Given the description of an element on the screen output the (x, y) to click on. 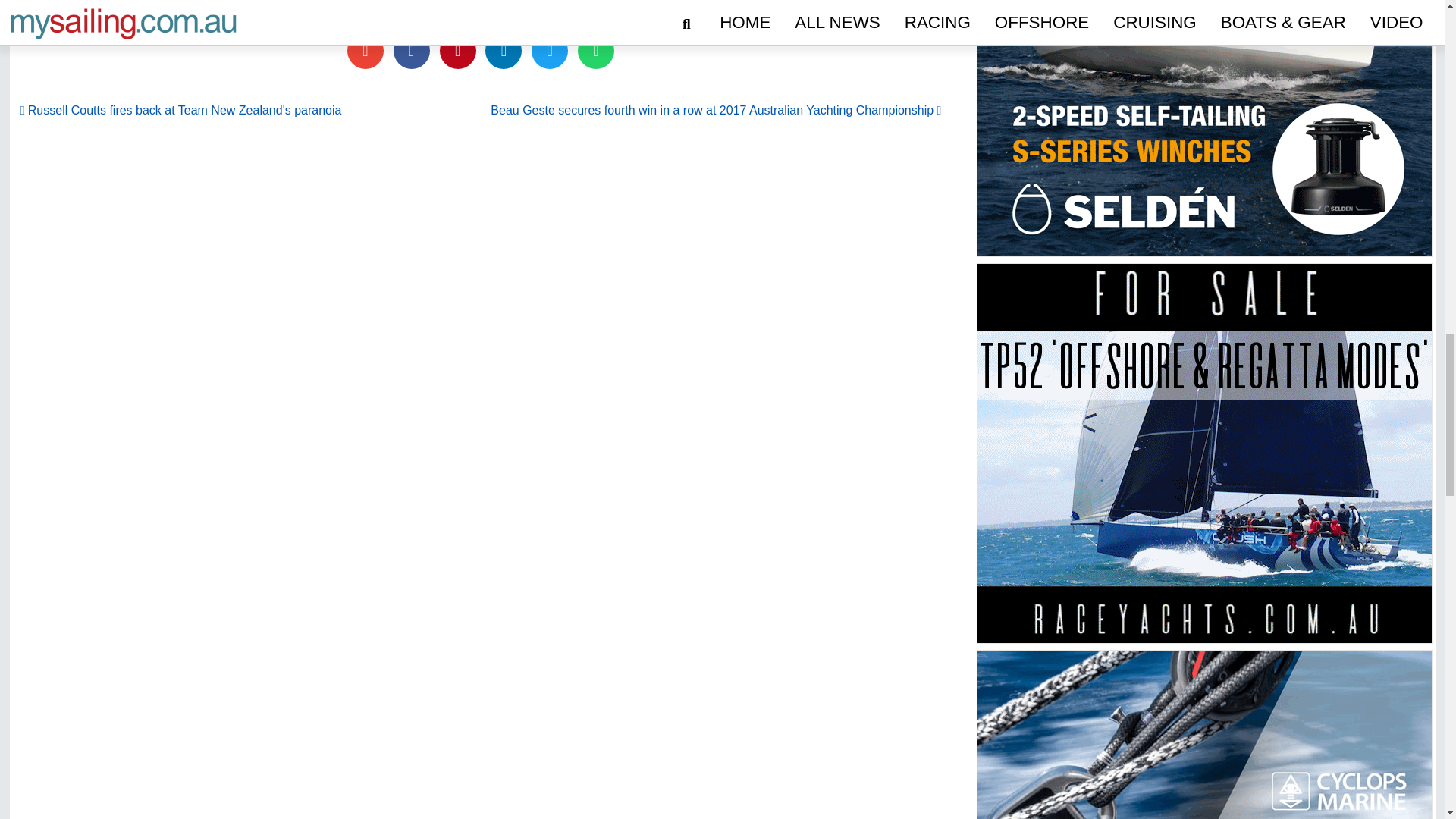
 Russell Coutts fires back at Team New Zealand's paranoia (180, 110)
Share by Email (365, 50)
